Given the description of an element on the screen output the (x, y) to click on. 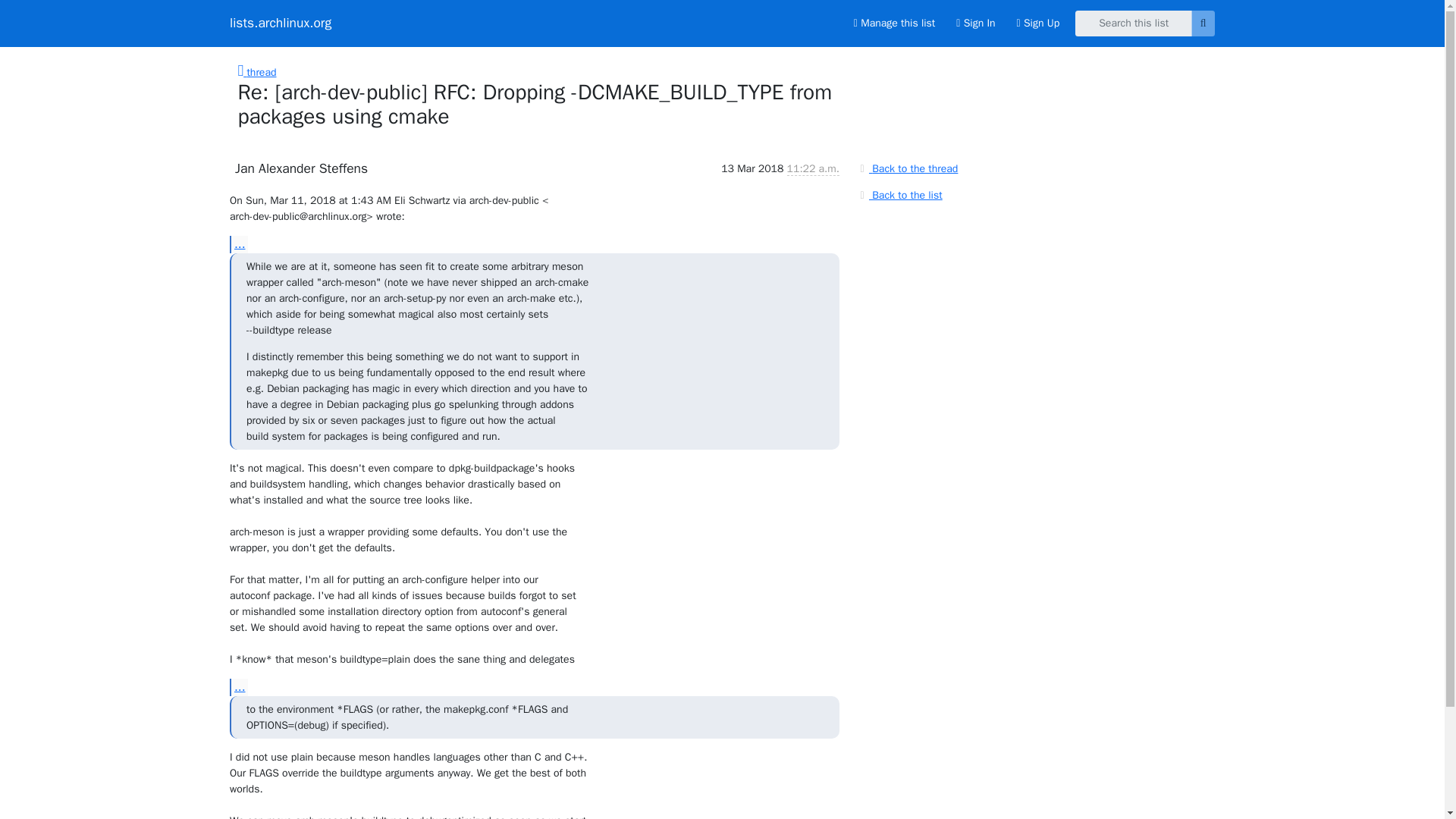
lists.archlinux.org (280, 23)
... (238, 687)
Manage this list (893, 22)
thread (257, 72)
Sign In (975, 22)
Sender's time: March 13, 2018, 11:22 a.m. (813, 169)
Sign Up (1038, 22)
Back to the list (899, 194)
... (238, 243)
Back to the thread (907, 168)
